Given the description of an element on the screen output the (x, y) to click on. 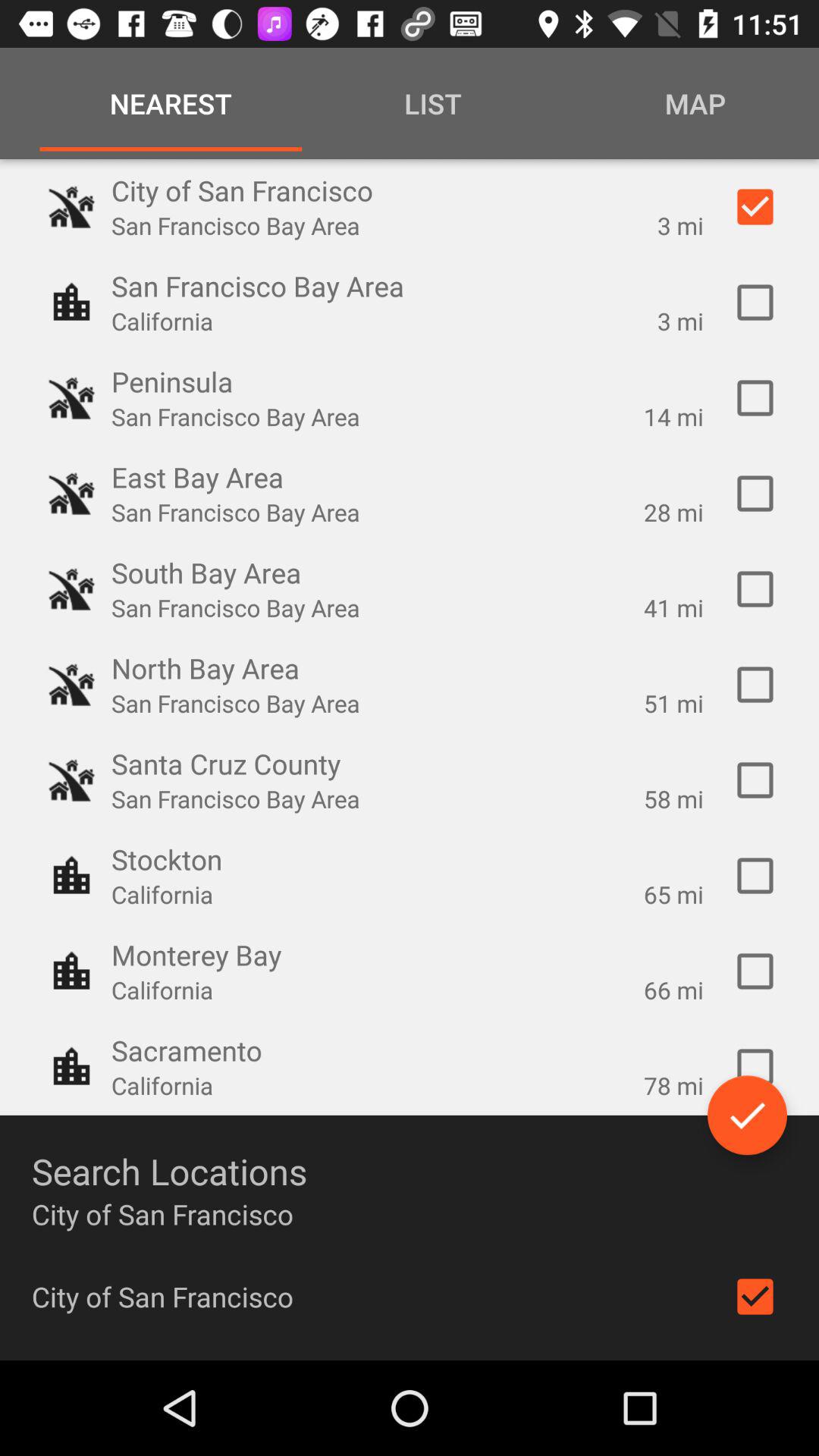
check stockton box (755, 875)
